Given the description of an element on the screen output the (x, y) to click on. 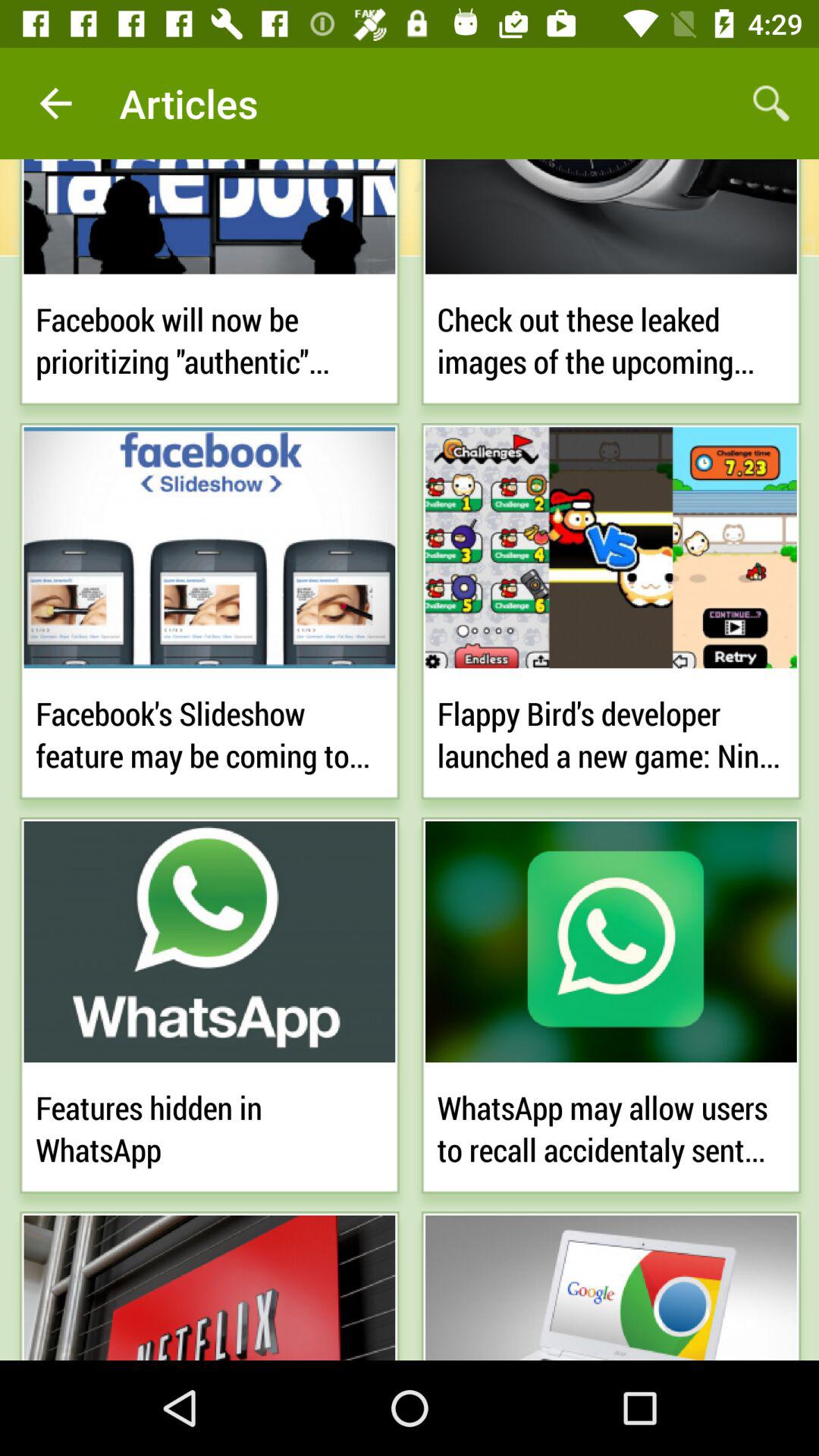
jump to facebook will now icon (209, 337)
